Given the description of an element on the screen output the (x, y) to click on. 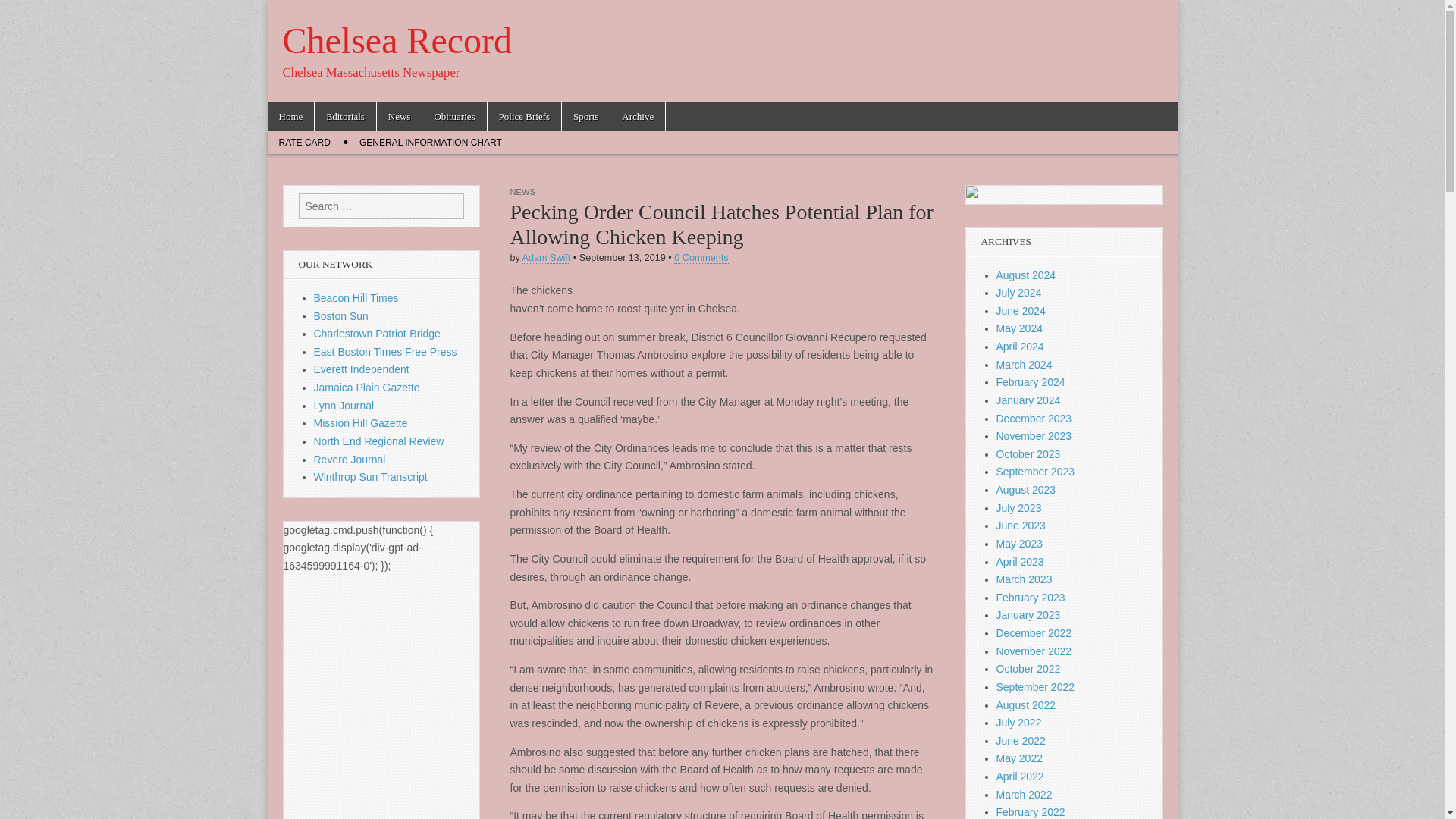
Lynn Journal (344, 405)
GENERAL INFORMATION CHART (430, 142)
Sports (586, 116)
Boston Sun (341, 316)
Police Briefs (524, 116)
Everett Independent (361, 369)
Mission Hill Gazette (360, 422)
Charlestown Patriot-Bridge (377, 333)
Editorials (344, 116)
Archive (637, 116)
East Boston Times Free Press (385, 351)
June 2024 (1020, 310)
RATE CARD (303, 142)
